Given the description of an element on the screen output the (x, y) to click on. 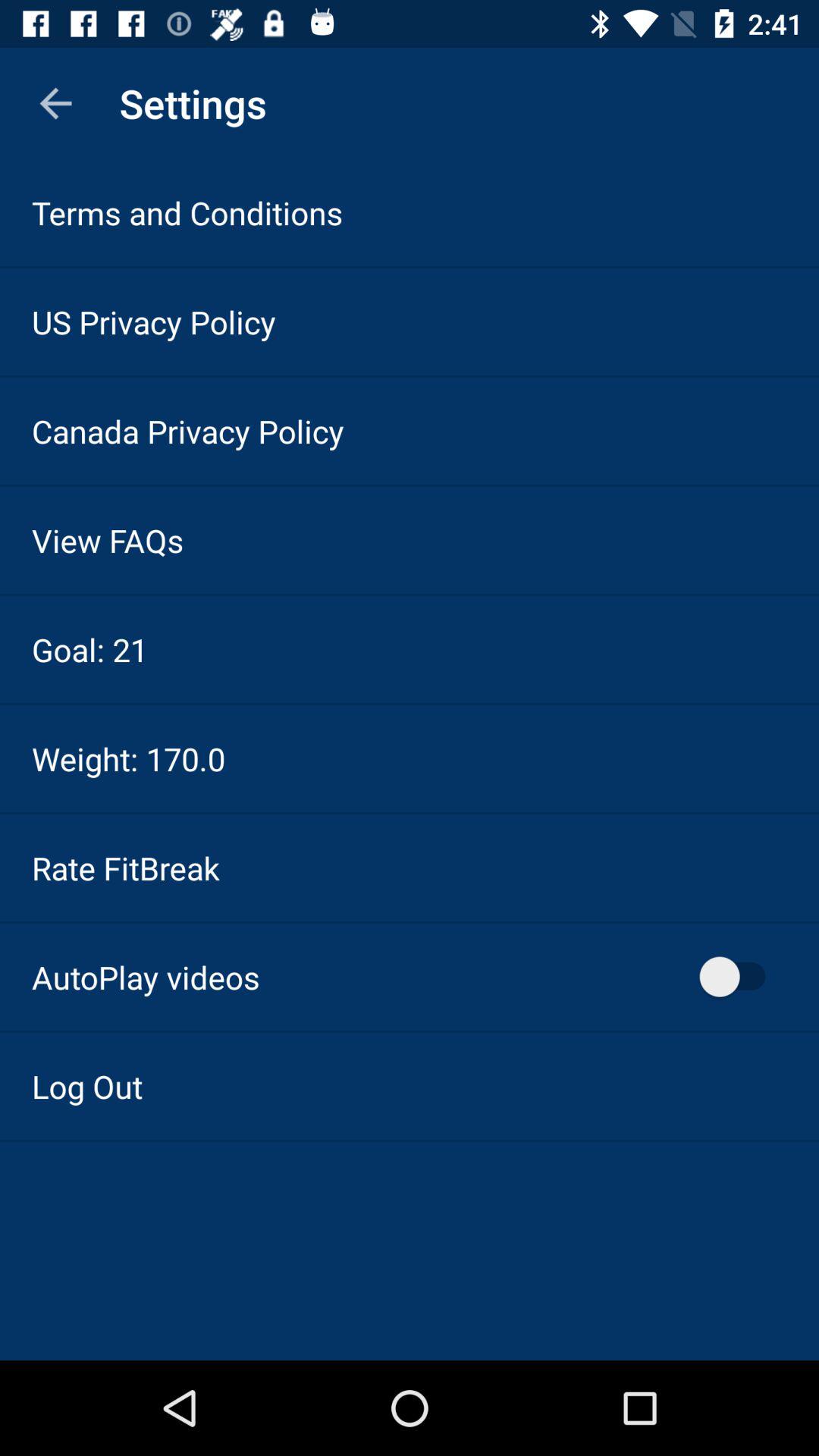
click icon to the right of the autoplay videos icon (739, 976)
